Given the description of an element on the screen output the (x, y) to click on. 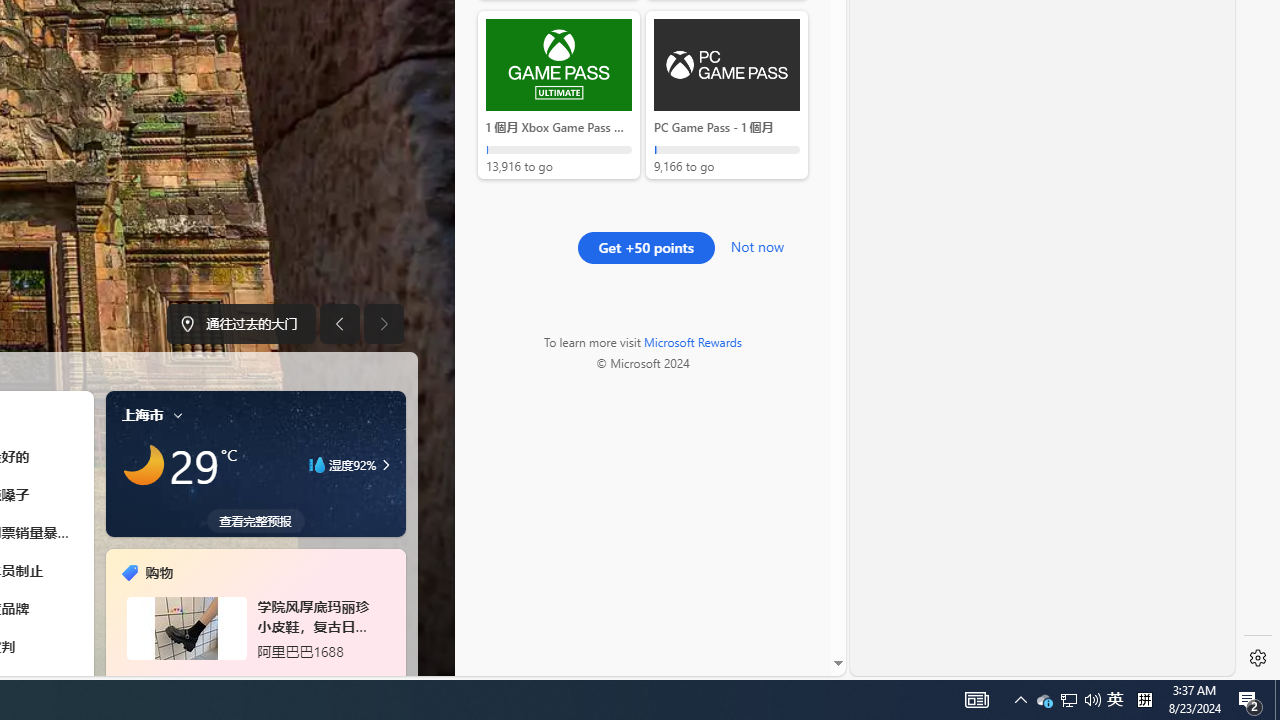
Previous image (338, 323)
tab-5 (255, 678)
Next image (383, 323)
Not now (756, 244)
tab-3 (231, 678)
tab-6 (267, 678)
Class: weather-arrow-glyph (385, 464)
Get +50 points (646, 247)
tab-8 (291, 678)
